Given the description of an element on the screen output the (x, y) to click on. 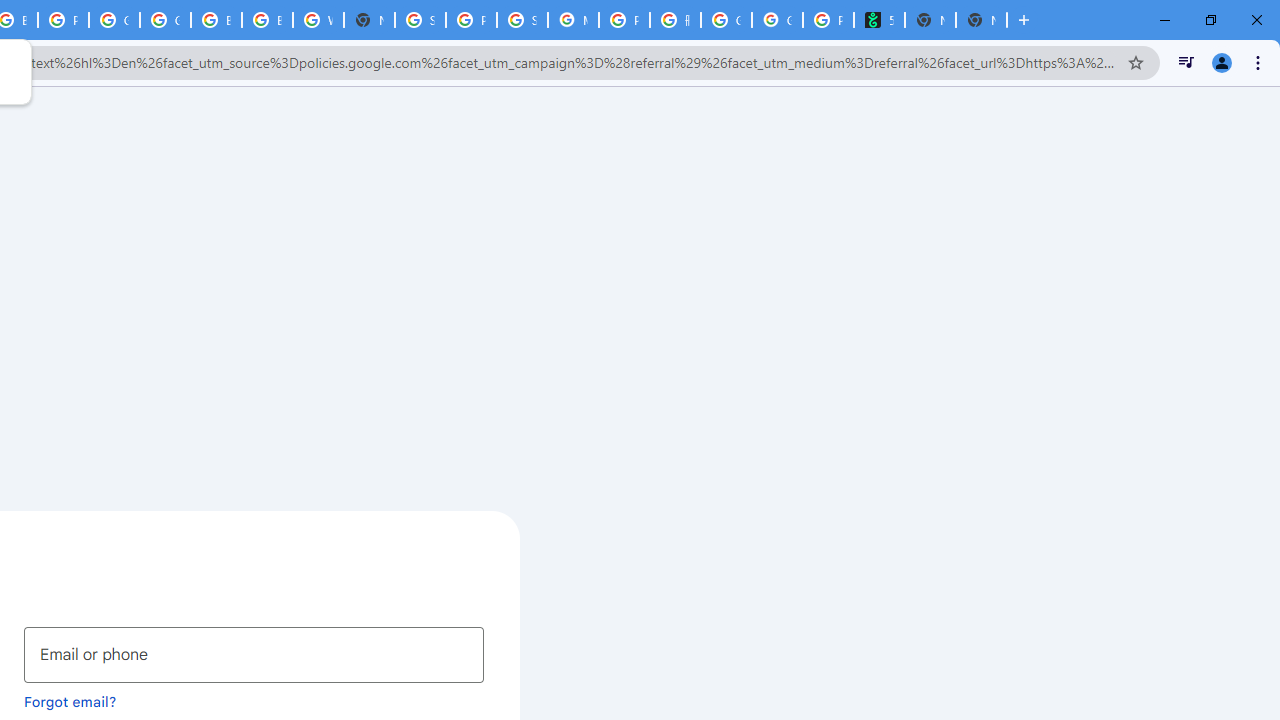
Forgot email? (70, 701)
Sign in - Google Accounts (420, 20)
Browse Chrome as a guest - Computer - Google Chrome Help (215, 20)
Google Cloud Platform (113, 20)
Email or phone (253, 654)
